Given the description of an element on the screen output the (x, y) to click on. 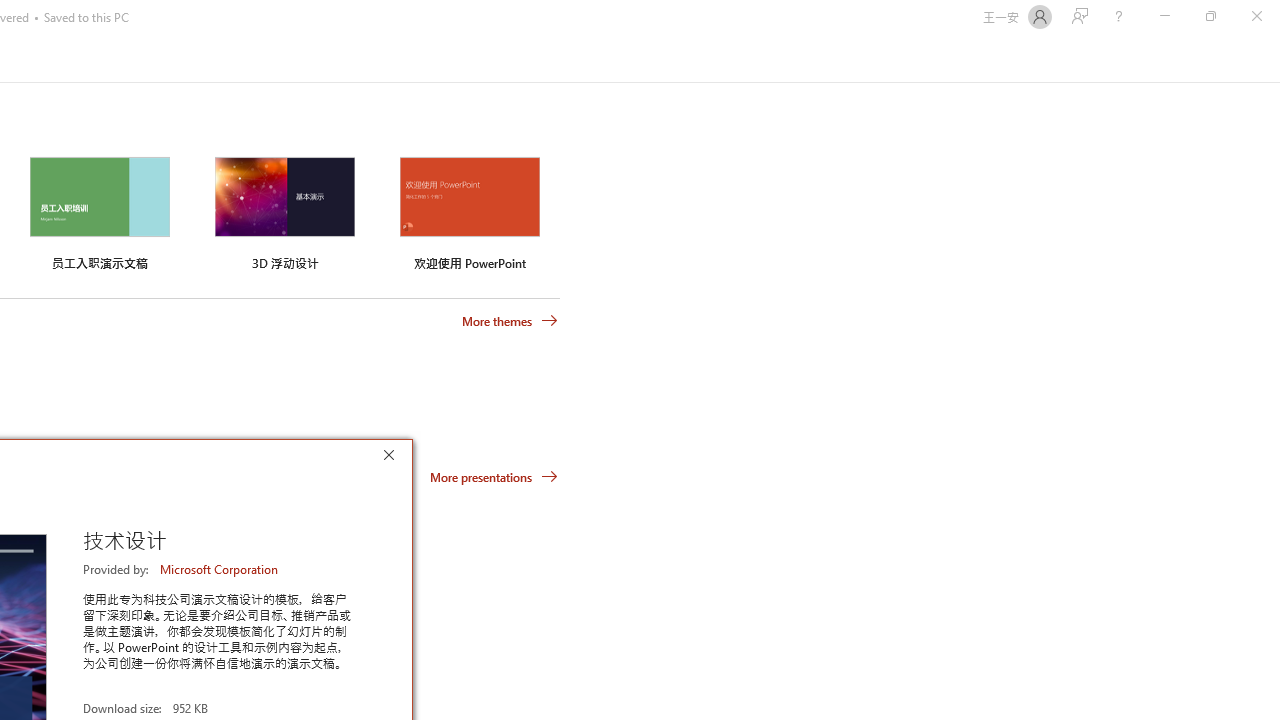
Microsoft Corporation (220, 569)
More themes (509, 321)
More presentations (493, 476)
